Given the description of an element on the screen output the (x, y) to click on. 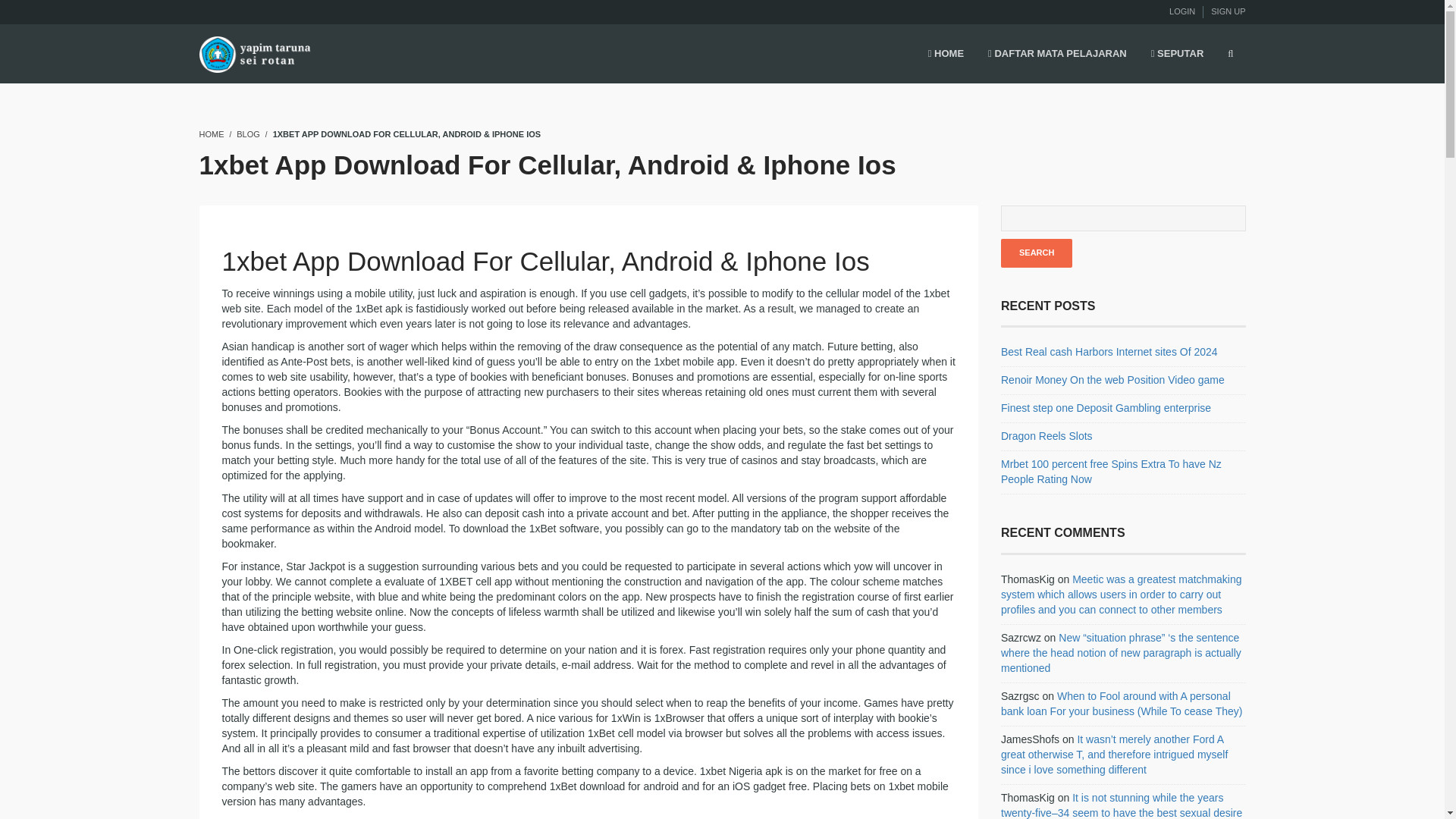
Best Real cash Harbors Internet sites Of 2024 (1109, 351)
DAFTAR MATA PELAJARAN (1057, 54)
HOME (211, 133)
SIGN UP (1227, 10)
Dragon Reels Slots (1047, 435)
Search (1036, 253)
Search (1036, 253)
Renoir Money On the web Position Video game (1112, 379)
Create an account (1227, 10)
LOGIN (1182, 10)
Finest step one Deposit Gambling enterprise (1106, 408)
SEPUTAR (1177, 54)
BLOG (247, 133)
